Given the description of an element on the screen output the (x, y) to click on. 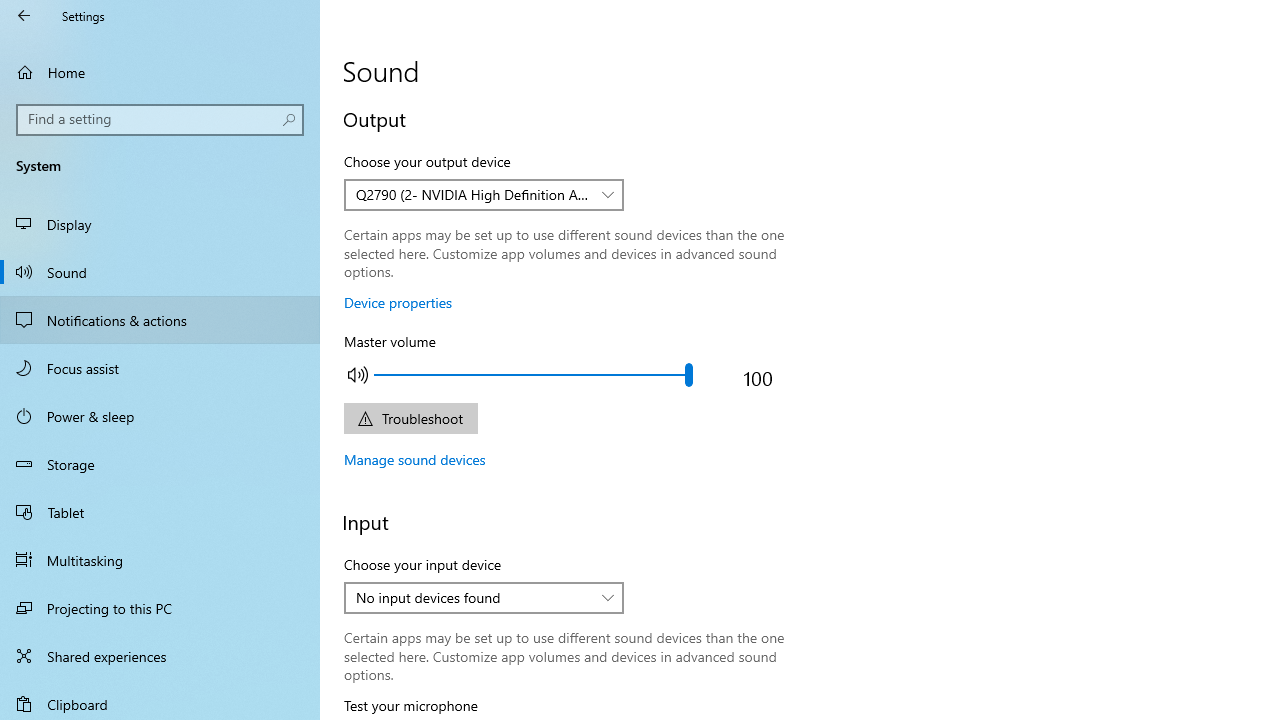
Notifications & actions (160, 319)
Sound (160, 271)
Back (24, 15)
Adjust the master output volume (532, 374)
Display (160, 223)
Manage sound devices (415, 459)
Focus assist (160, 367)
